Given the description of an element on the screen output the (x, y) to click on. 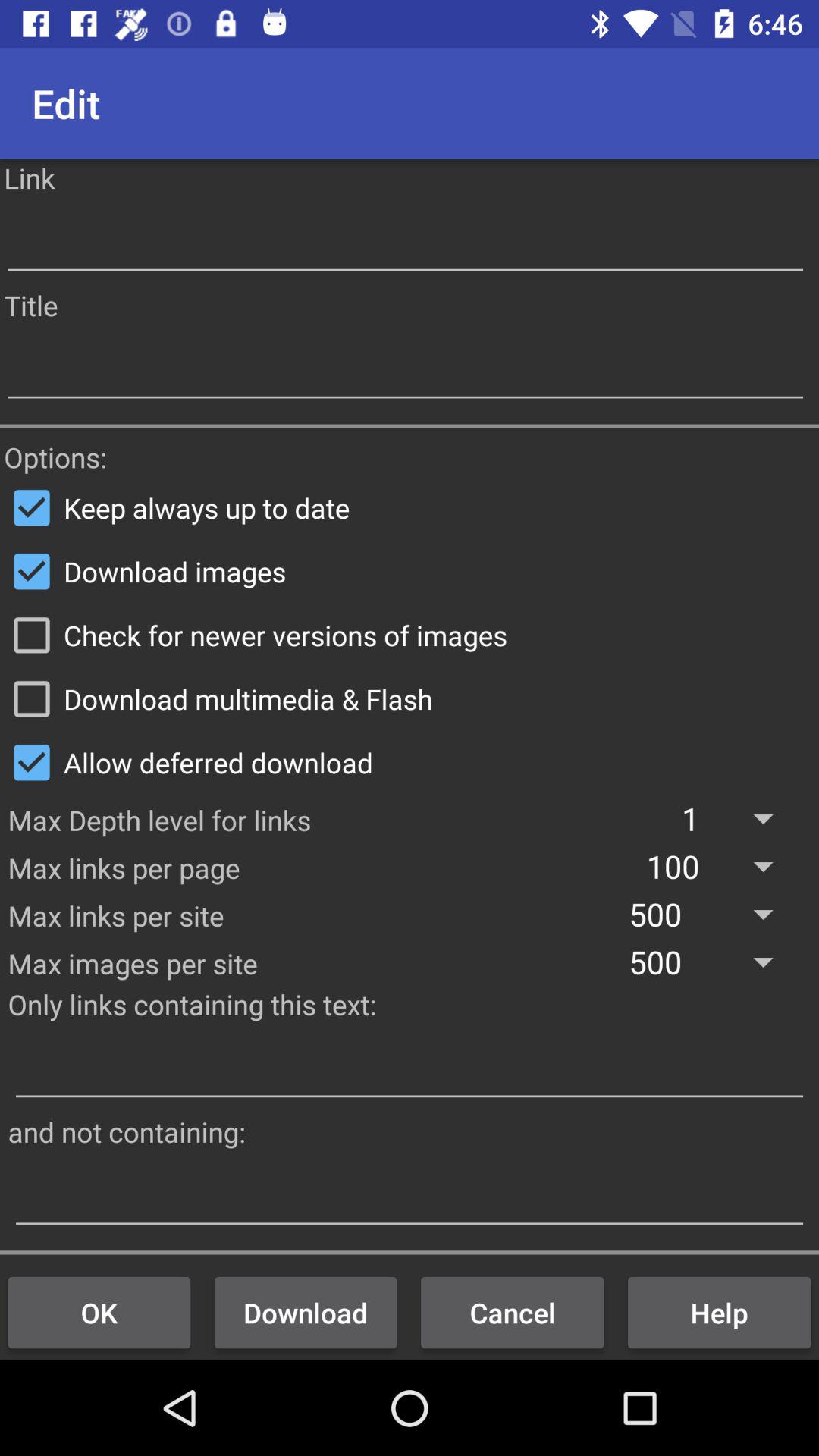
select title input (405, 369)
